Given the description of an element on the screen output the (x, y) to click on. 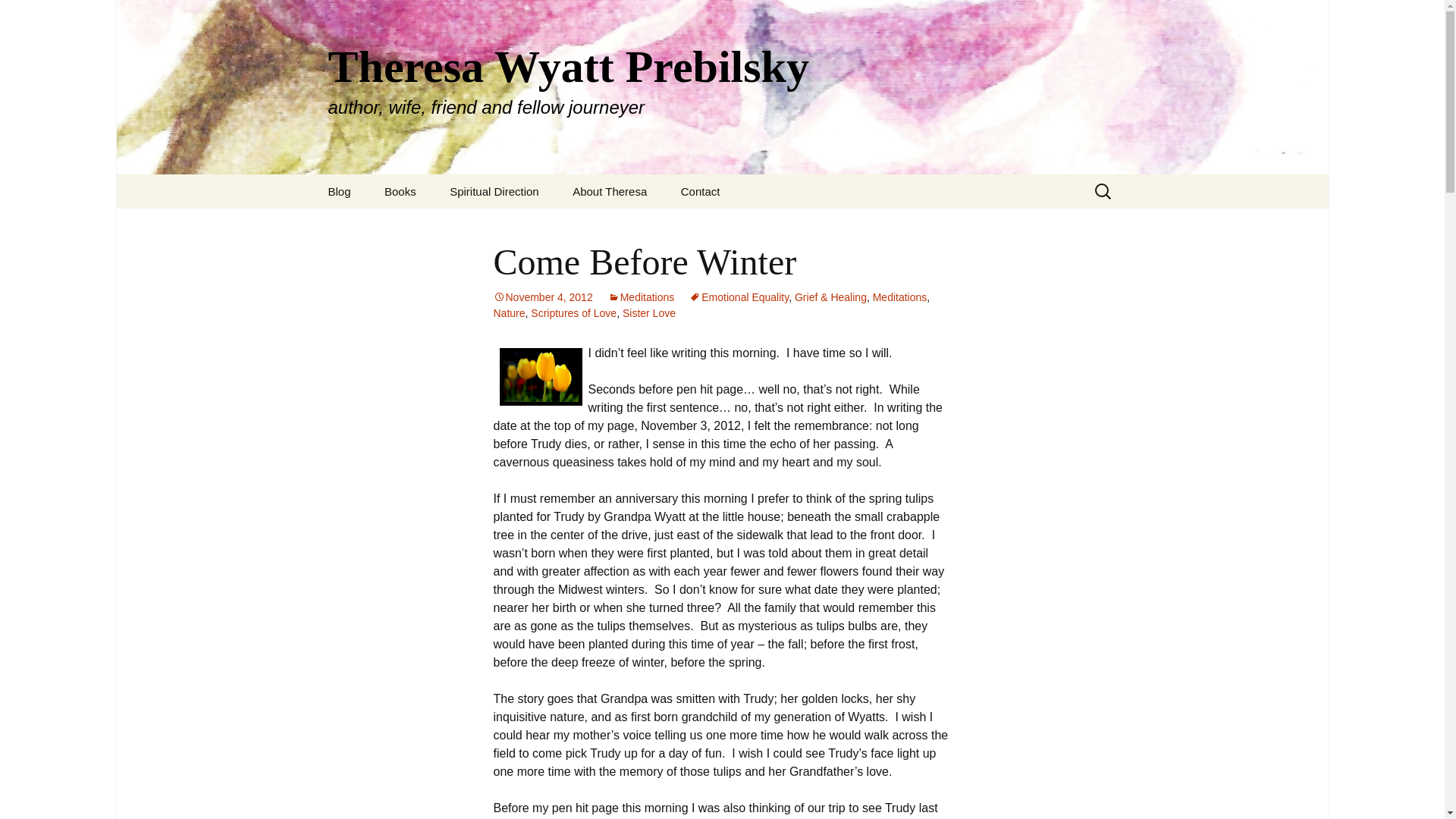
Books (399, 191)
Blog (339, 191)
Meditations (641, 297)
Emotional Equality (738, 297)
Blog (339, 191)
Permalink to Come Before Winter (542, 297)
Scriptures of Love (573, 313)
Contact (700, 191)
